Given the description of an element on the screen output the (x, y) to click on. 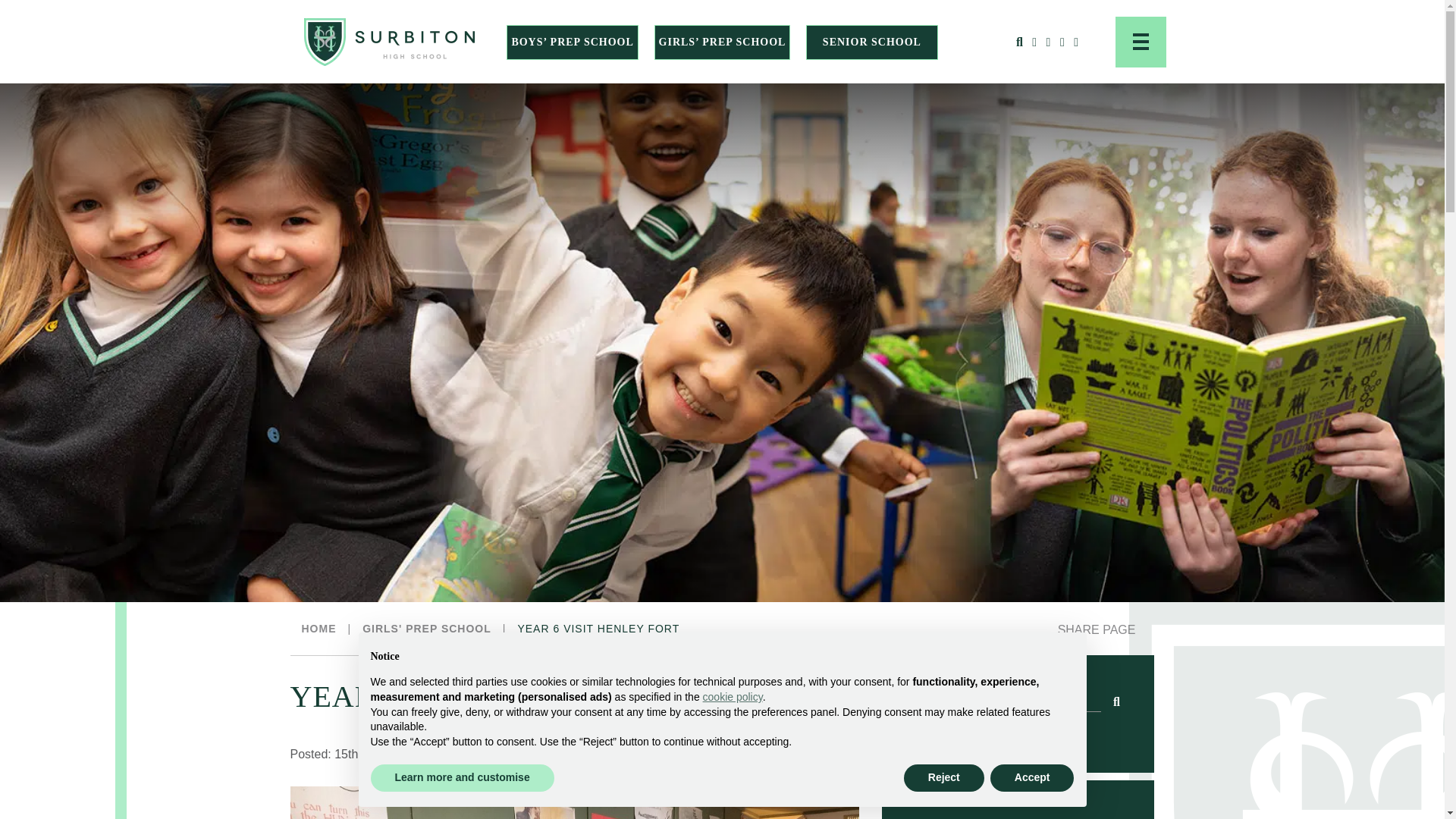
Search (1065, 70)
SENIOR SCHOOL (871, 41)
Go to Surbiton High School. (318, 628)
Search (1115, 701)
Go to the Girls' Prep School category archives. (427, 628)
